Given the description of an element on the screen output the (x, y) to click on. 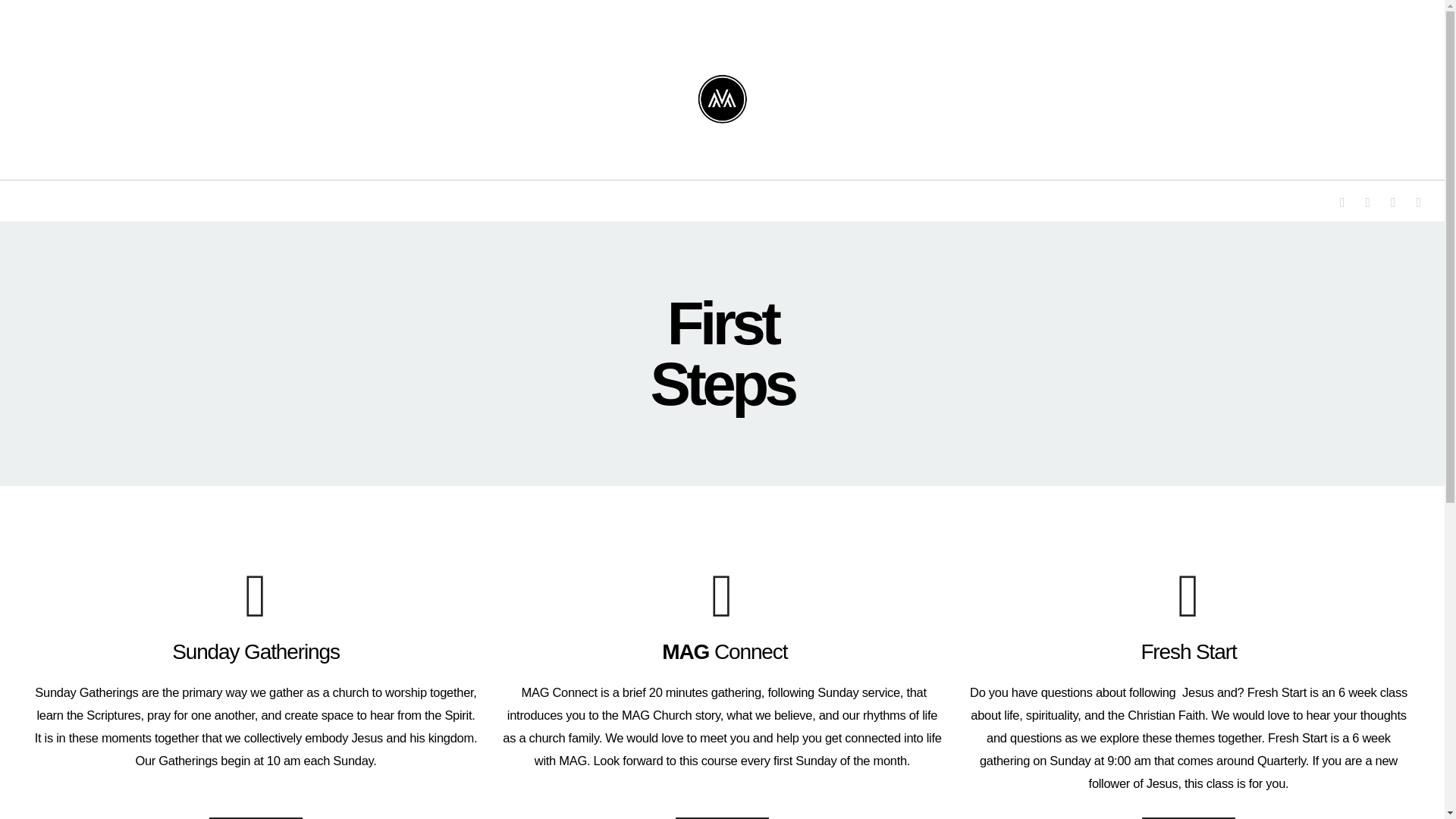
EVENTS  (858, 191)
LEARN MORE (255, 818)
GIVE (931, 191)
LEARN MORE (721, 818)
SERVE (781, 191)
COMMIT  (625, 191)
CONNECT  (532, 191)
GROW  (707, 191)
LEARN MORE (1187, 818)
